Given the description of an element on the screen output the (x, y) to click on. 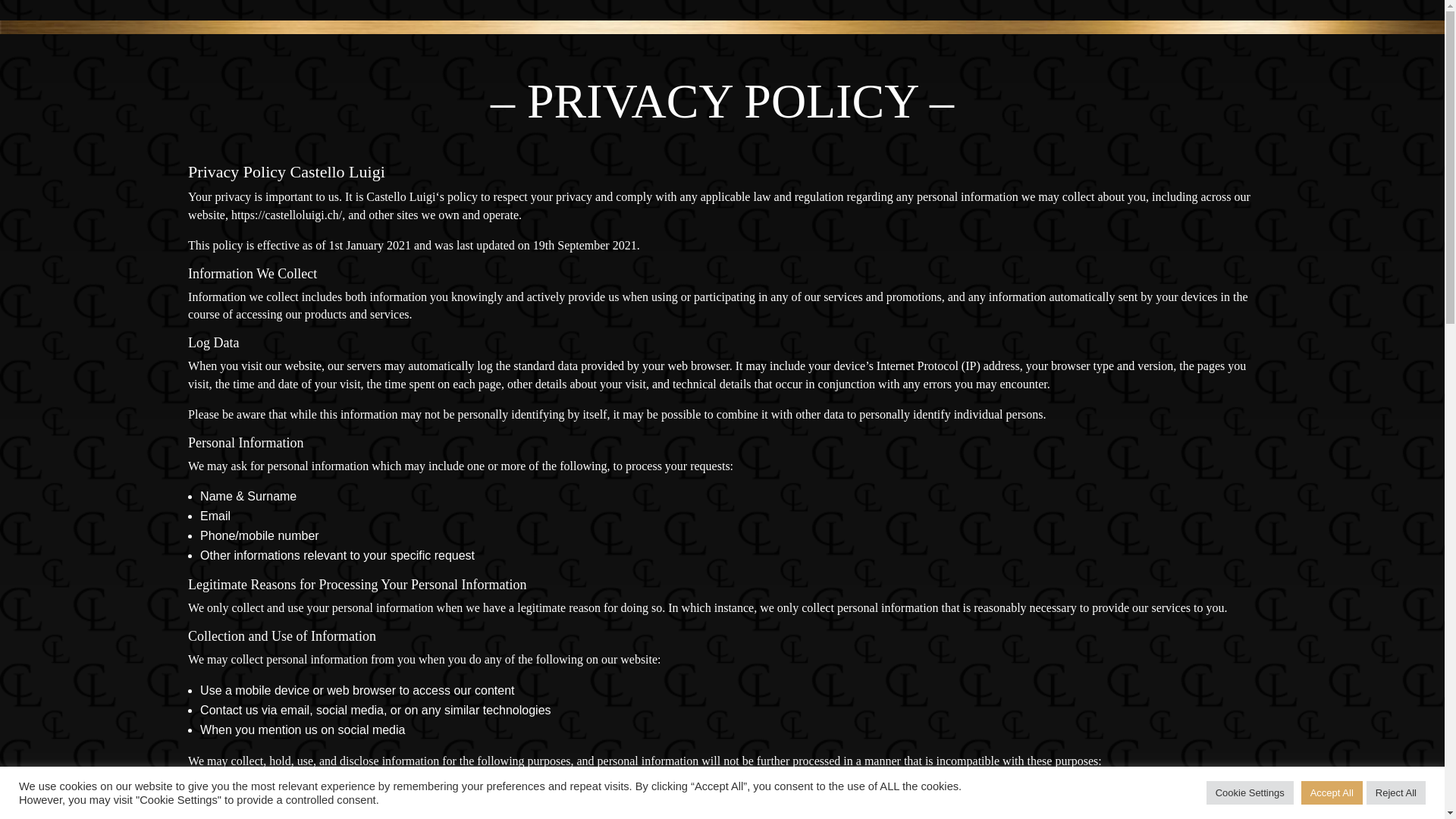
Bordo_oro_superiore Element type: hover (722, 27)
Reject All Element type: text (1395, 792)
Accept All Element type: text (1331, 792)
Cookie Settings Element type: text (1249, 792)
